Given the description of an element on the screen output the (x, y) to click on. 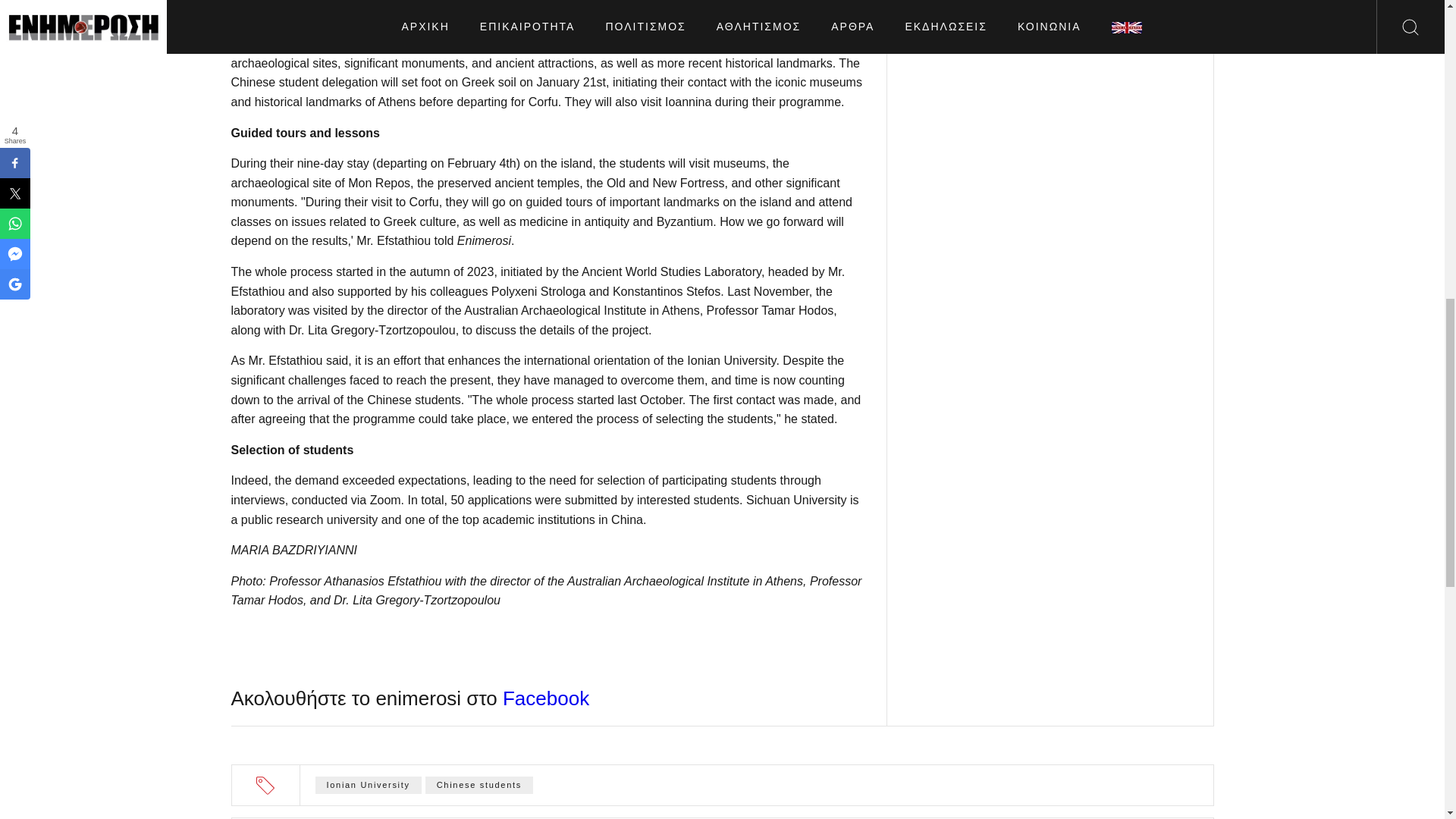
Facebook (545, 698)
Chinese students (478, 784)
Ionian University (368, 784)
